Given the description of an element on the screen output the (x, y) to click on. 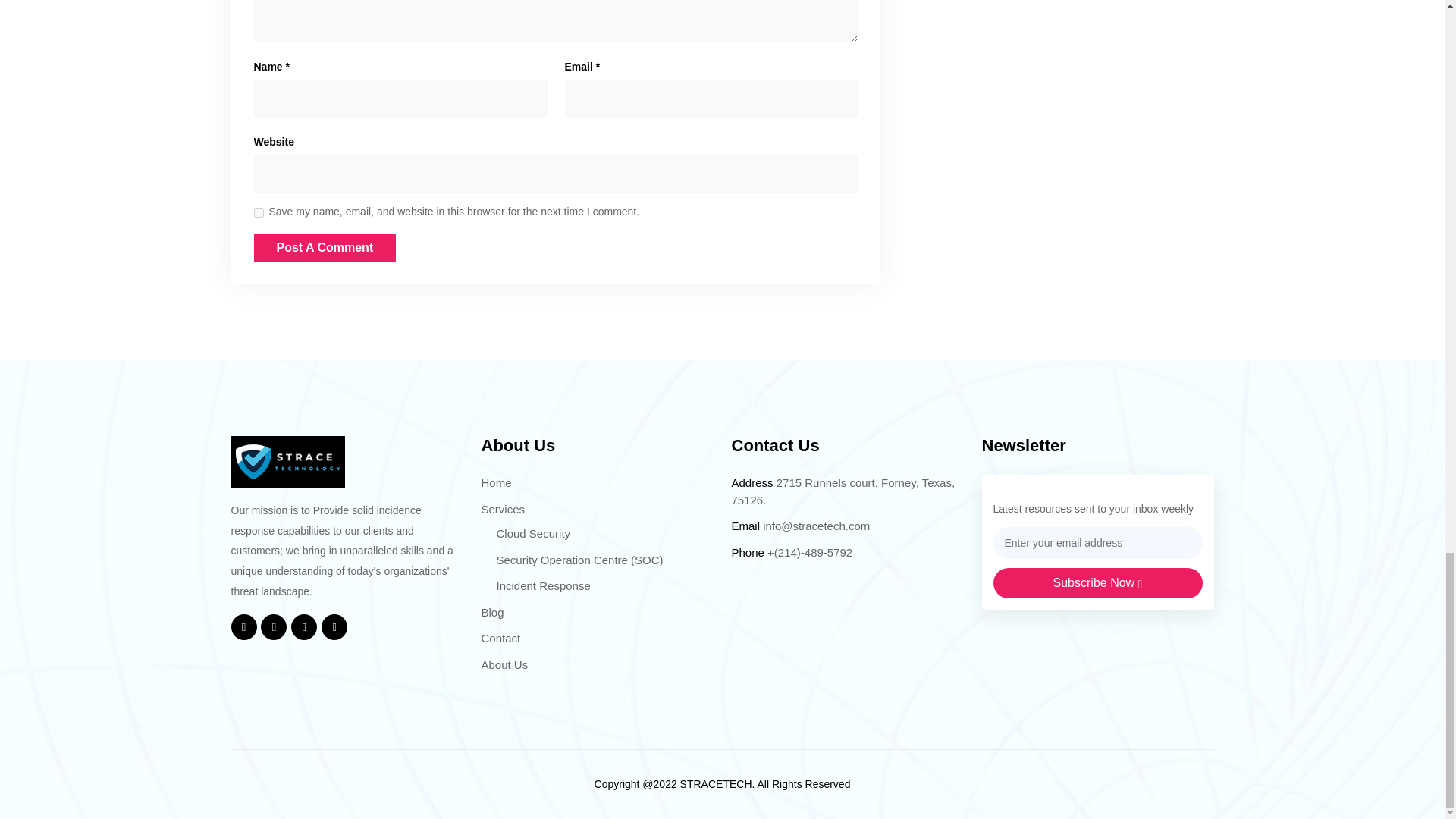
Blog (491, 612)
Incident Response (542, 585)
yes (258, 212)
Contact (499, 637)
Services (502, 508)
About Us (503, 664)
Cloud Security (533, 533)
Home (495, 481)
Post a Comment (324, 247)
Post a Comment (324, 247)
